Given the description of an element on the screen output the (x, y) to click on. 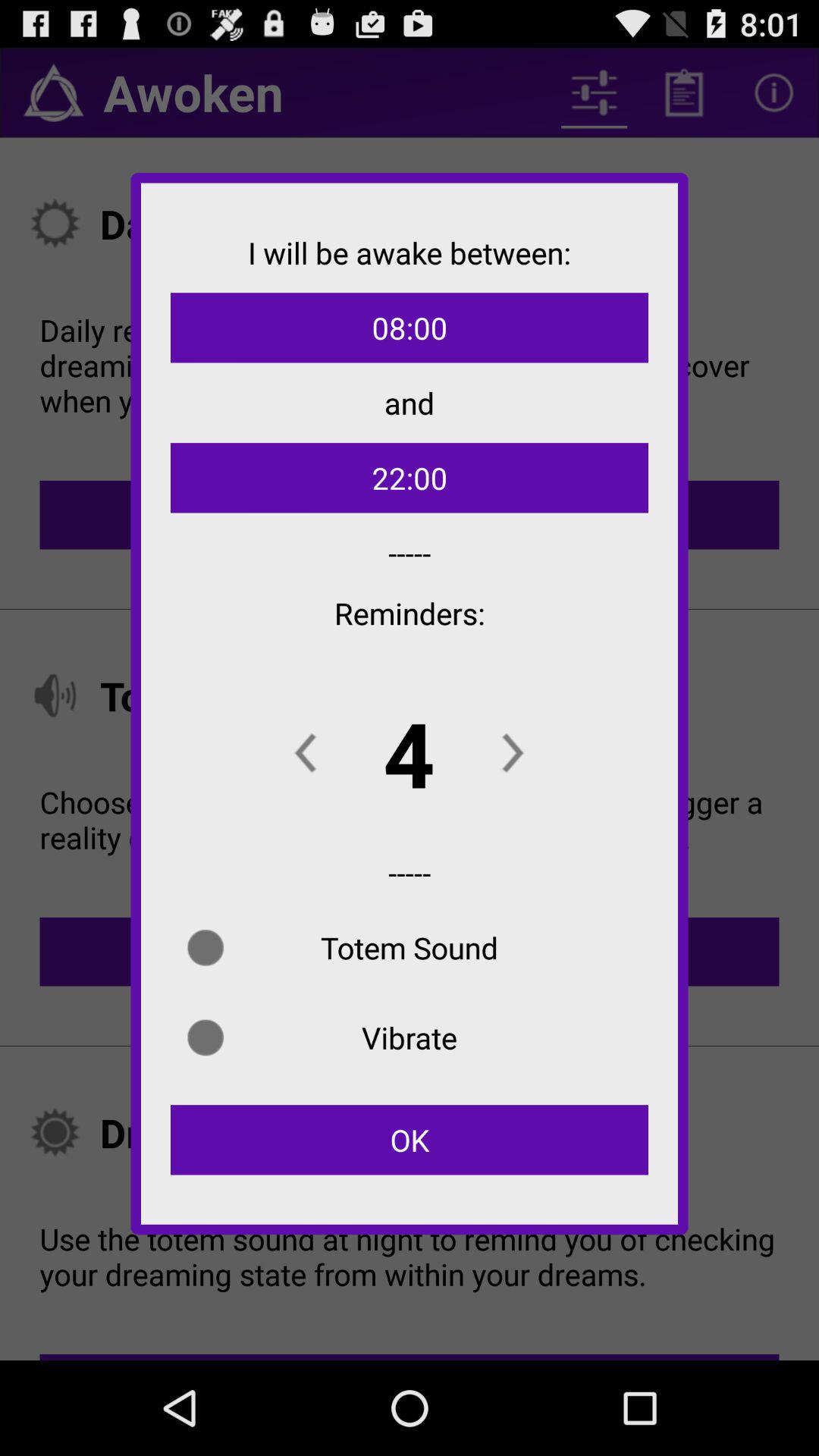
choose the ok item (409, 1140)
